Given the description of an element on the screen output the (x, y) to click on. 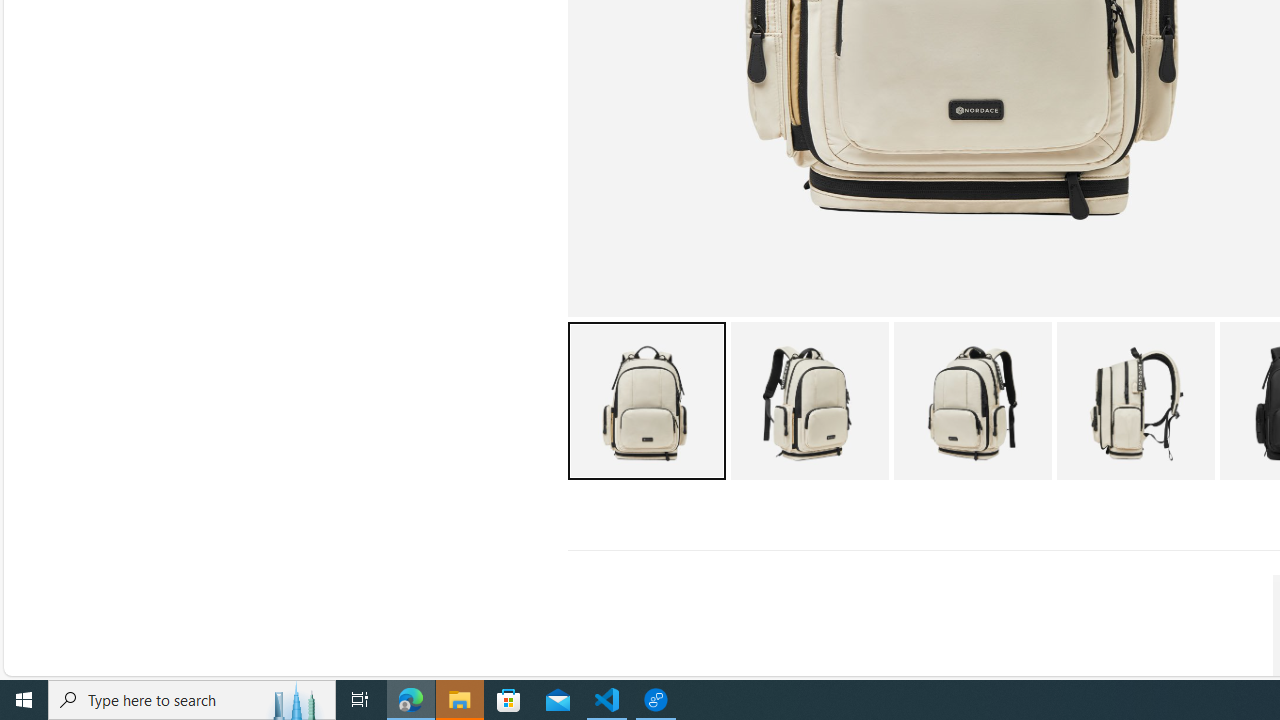
Audon Emmity Baby Diaper Backpack (1135, 400)
